Given the description of an element on the screen output the (x, y) to click on. 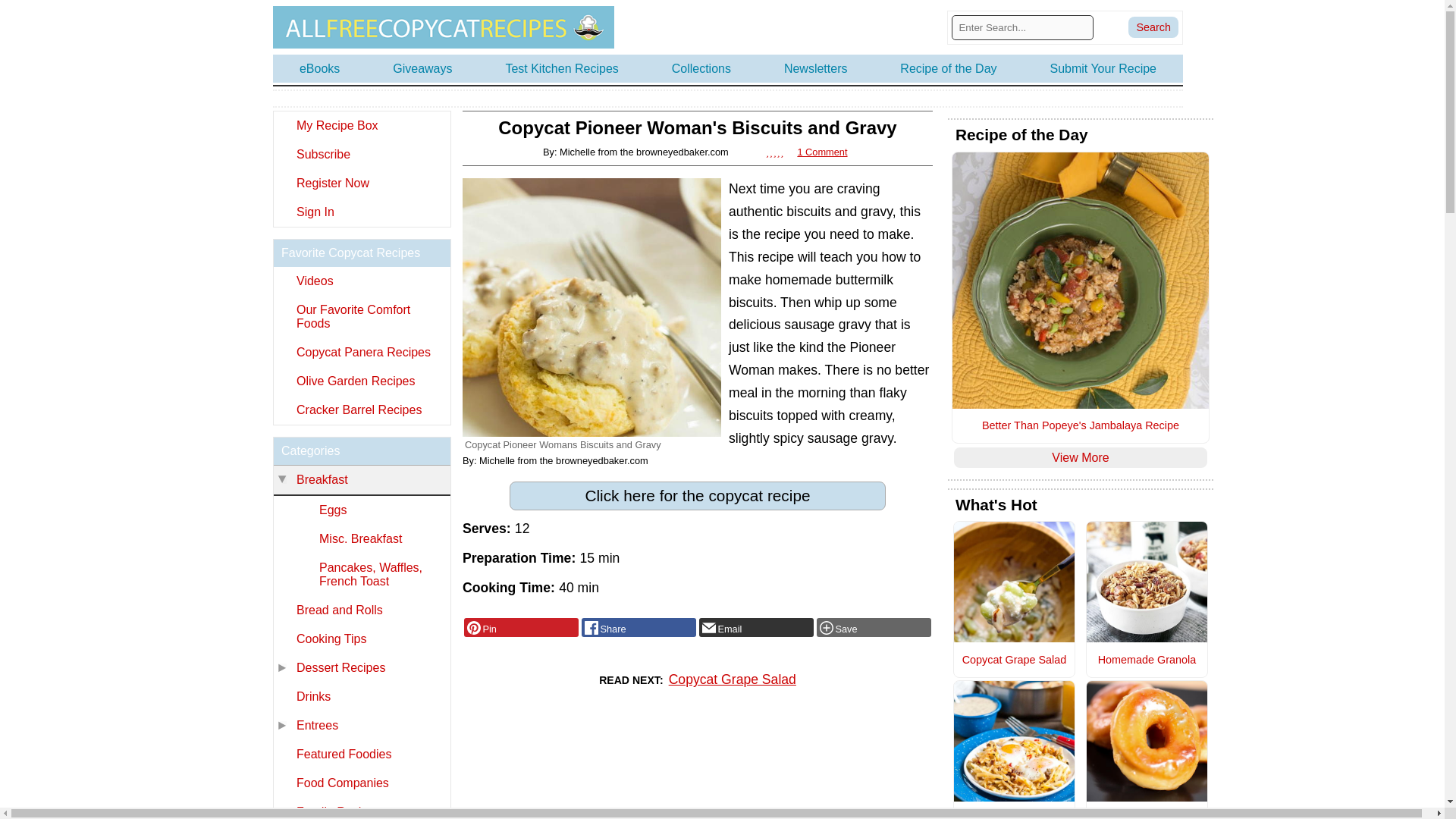
Sign In (361, 212)
Register Now (361, 183)
Facebook (637, 628)
Email (755, 628)
Insticator Content Engagement Unit (698, 770)
My Recipe Box (361, 125)
Search (1152, 26)
Subscribe (361, 154)
Copycat Pioneer Womans Biscuits and Gravy (591, 307)
Add (873, 628)
